Given the description of an element on the screen output the (x, y) to click on. 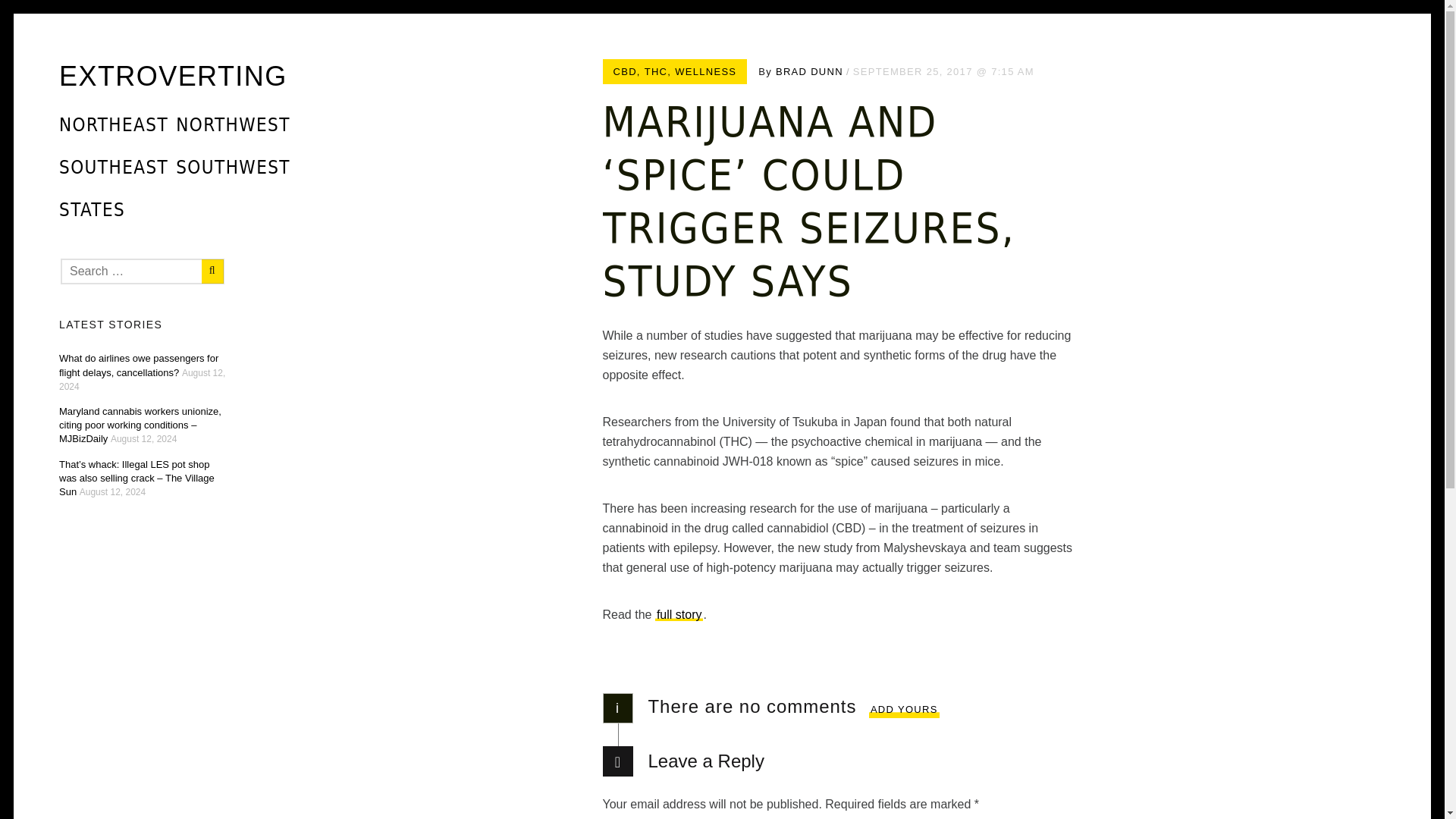
EXTROVERTING (172, 75)
Search for: (142, 271)
SOUTHWEST (232, 167)
SOUTHEAST (113, 167)
WELLNESS (705, 71)
SEPTEMBER 25, 20177:15 AM (943, 71)
BRAD DUNN (809, 71)
THC (656, 71)
full story (679, 614)
